Given the description of an element on the screen output the (x, y) to click on. 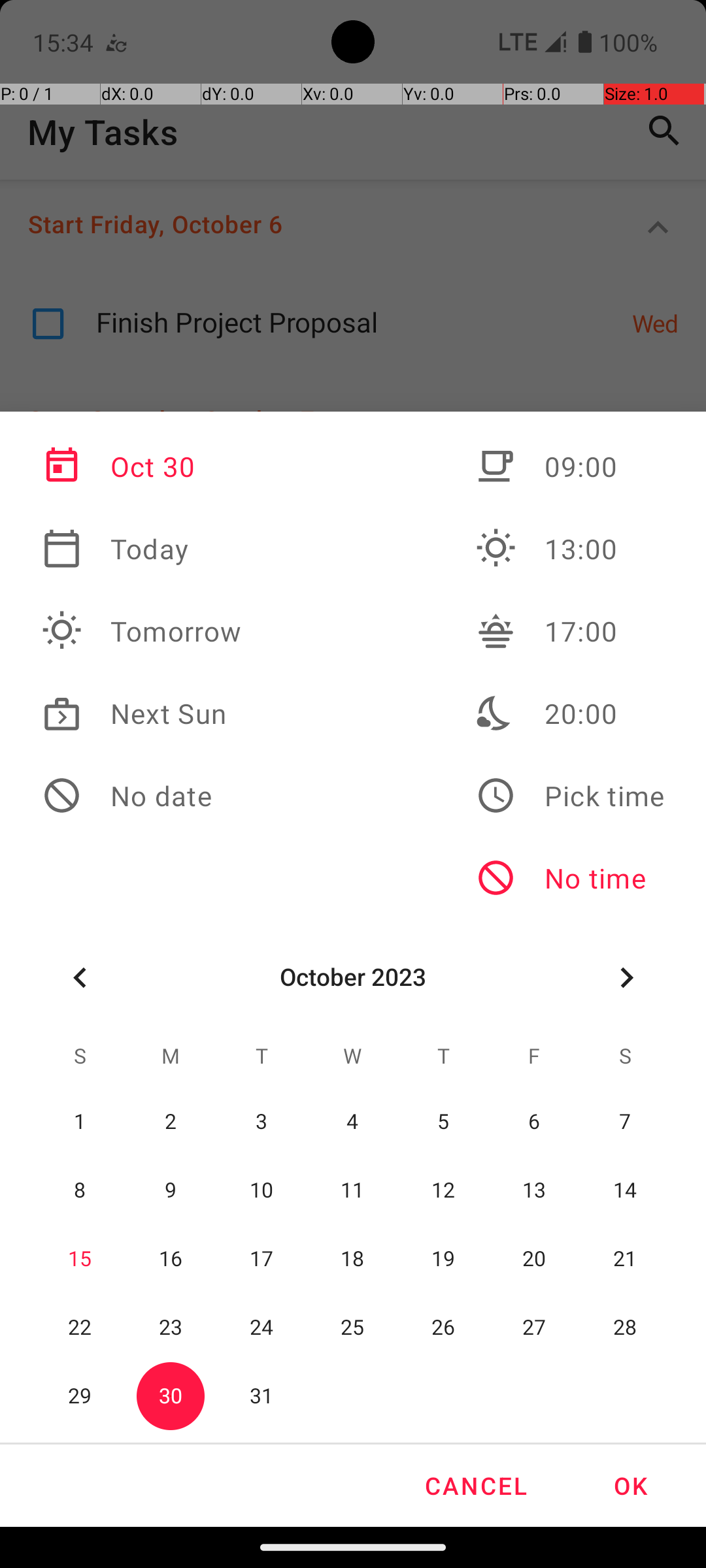
Oct 30 Element type: android.widget.CompoundButton (141, 466)
